Given the description of an element on the screen output the (x, y) to click on. 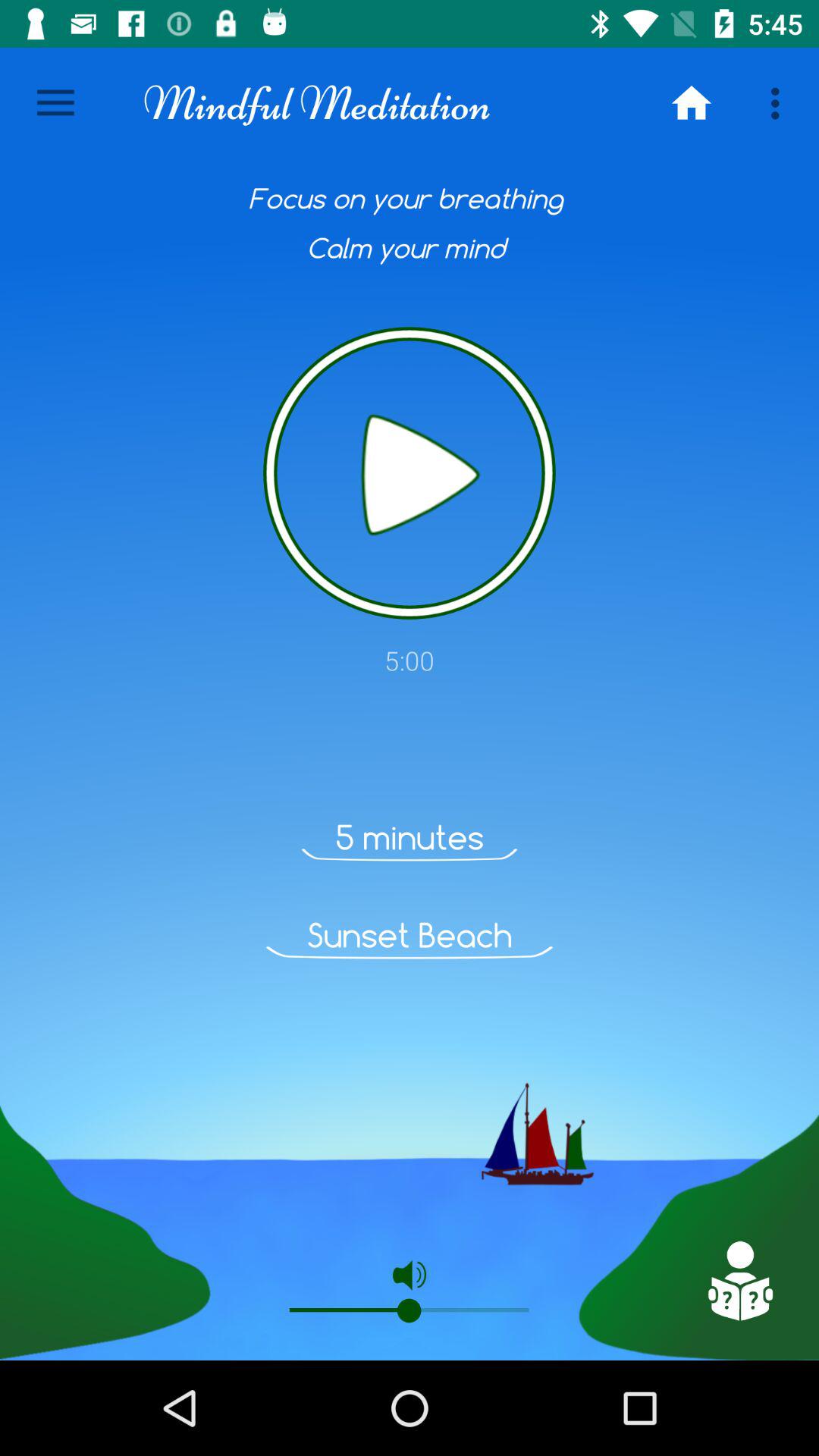
help (739, 1280)
